Given the description of an element on the screen output the (x, y) to click on. 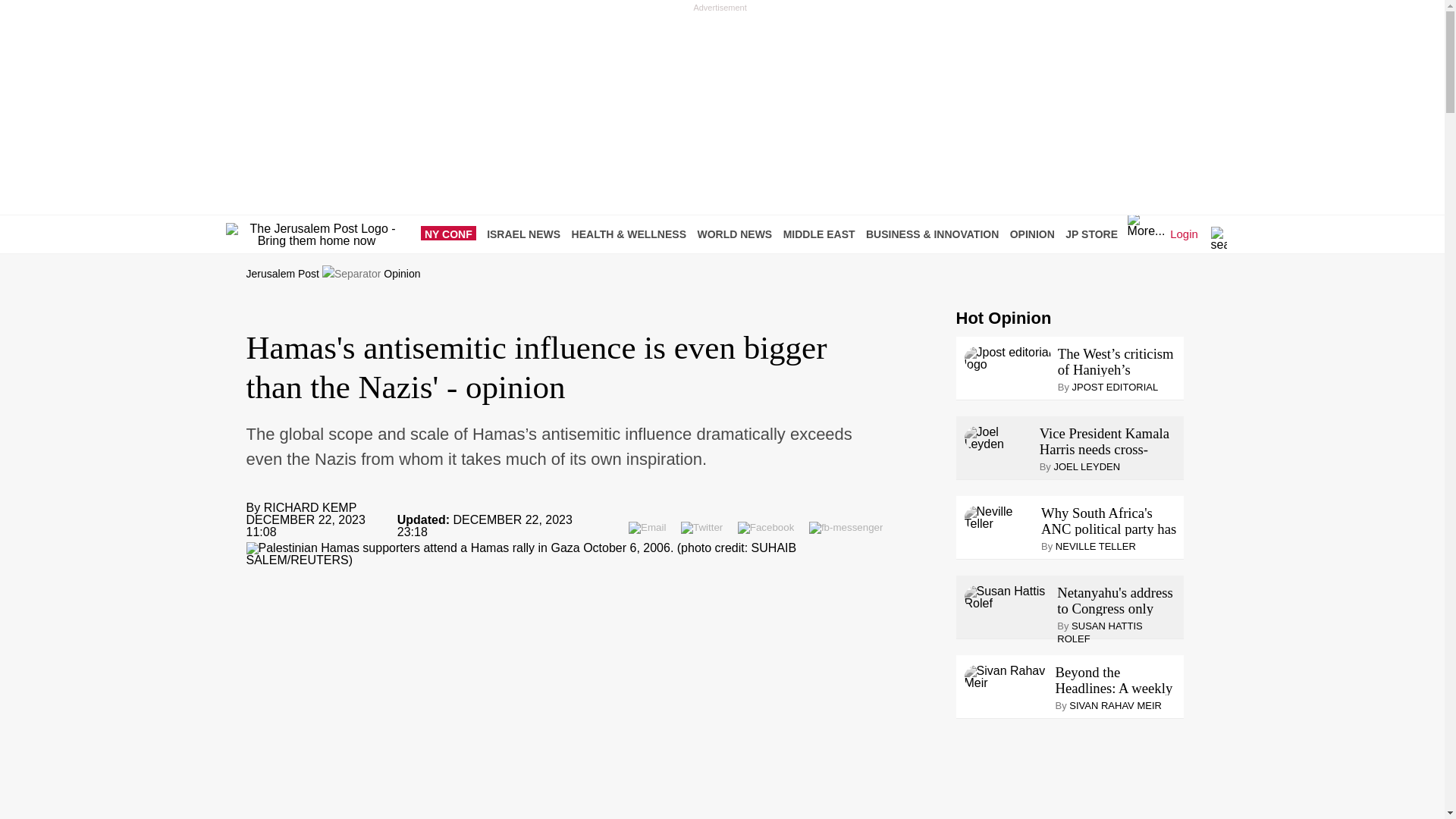
MIDDLE EAST (823, 234)
Jerusalem Post (282, 273)
Hot Opinion (1003, 317)
Neville Teller  (999, 517)
OPINION (1036, 234)
WORLD NEWS (737, 234)
Jerusalem Post (282, 273)
ISRAEL NEWS (526, 234)
JP STORE (1095, 234)
Susan Hattis Rolef (1007, 597)
NY CONF (451, 234)
Jpost editorial logo  (1007, 358)
Login (1184, 247)
